Given the description of an element on the screen output the (x, y) to click on. 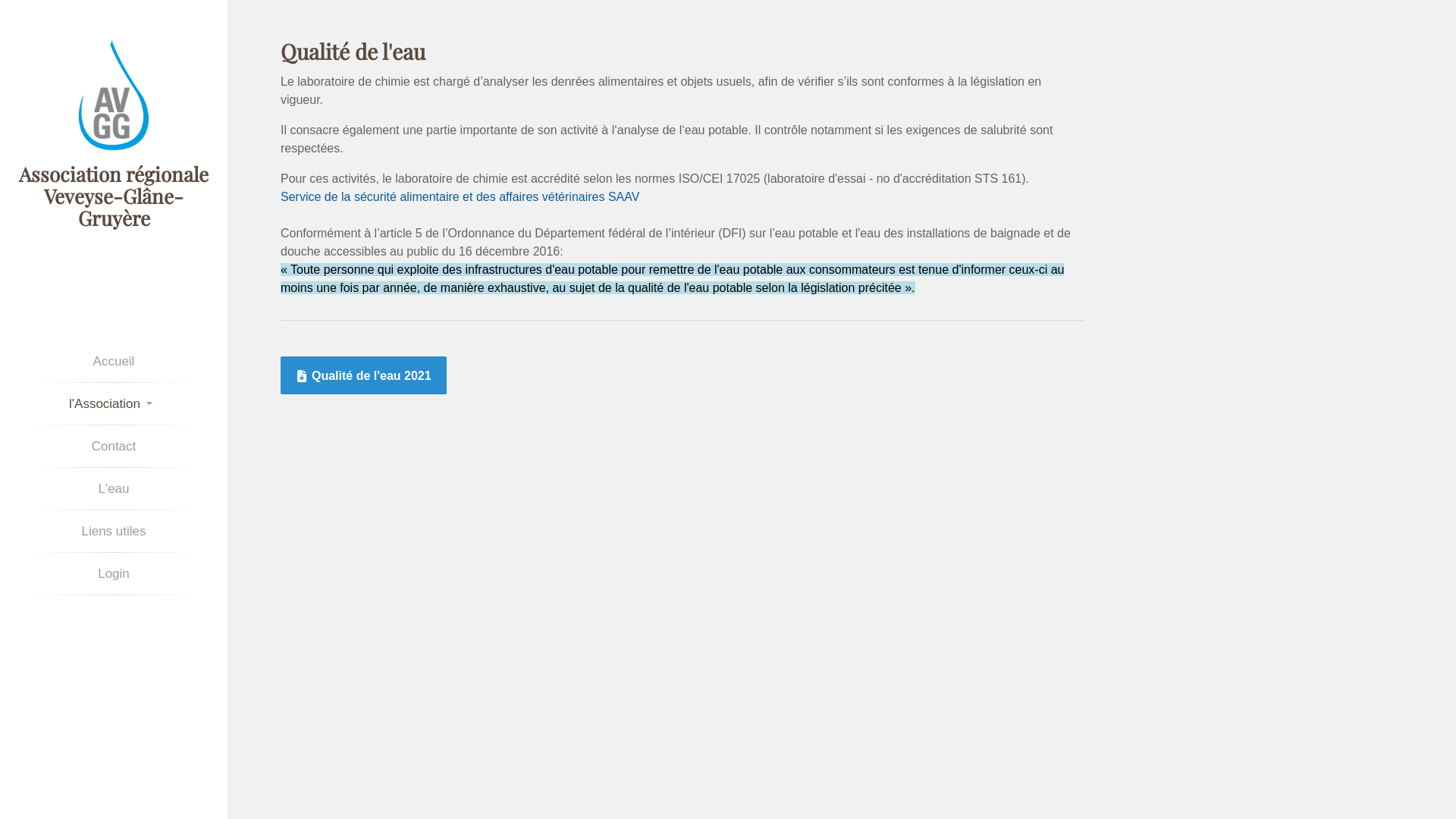
L'eau Element type: text (113, 488)
Accueil Element type: text (113, 361)
Login Element type: text (113, 573)
Liens utiles Element type: text (113, 531)
Contact Element type: text (113, 446)
